Given the description of an element on the screen output the (x, y) to click on. 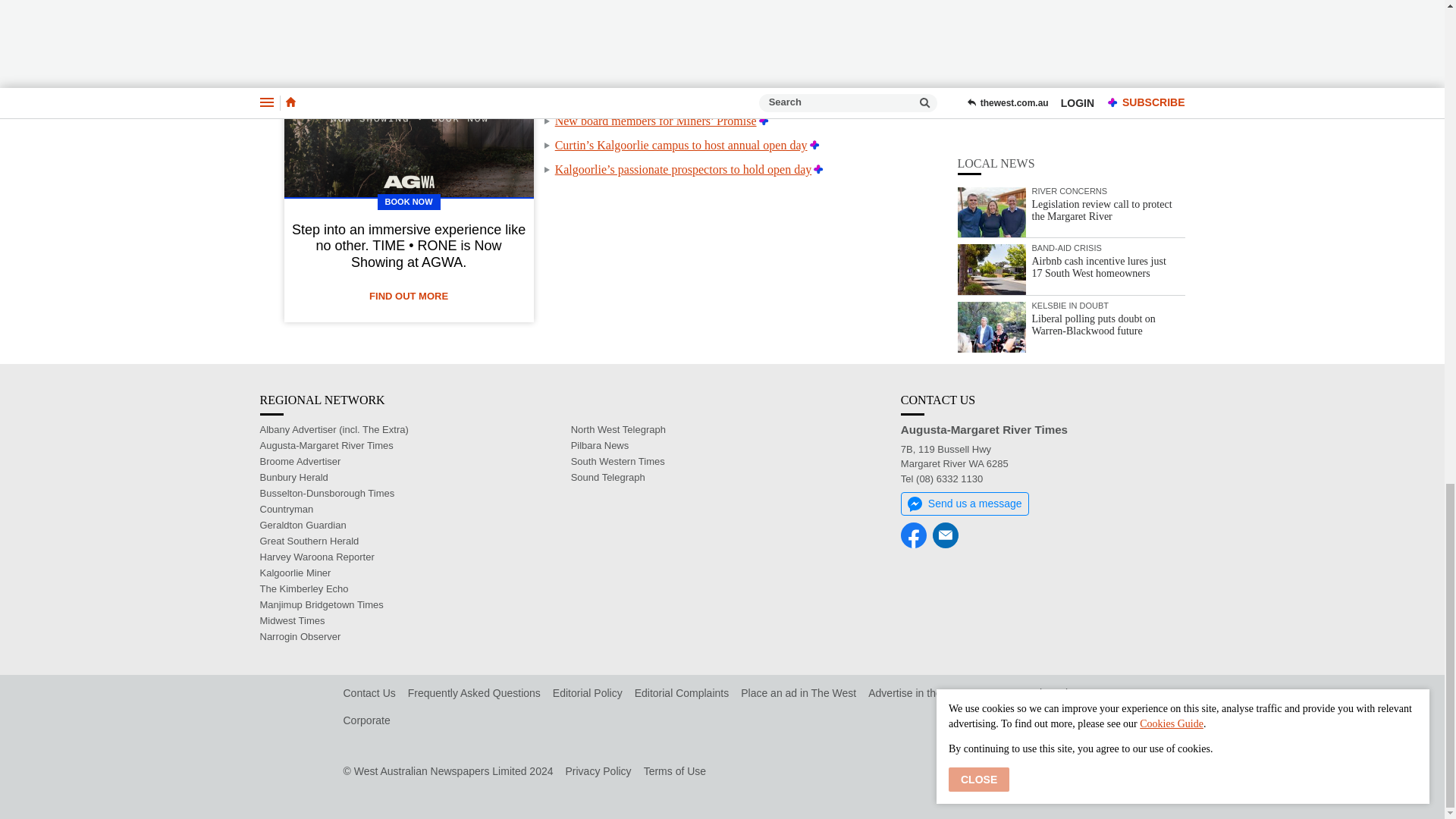
Premium (748, 47)
Premium (846, 72)
Premium (728, 96)
Premium (763, 120)
Premium (814, 144)
Premium (818, 169)
